Given the description of an element on the screen output the (x, y) to click on. 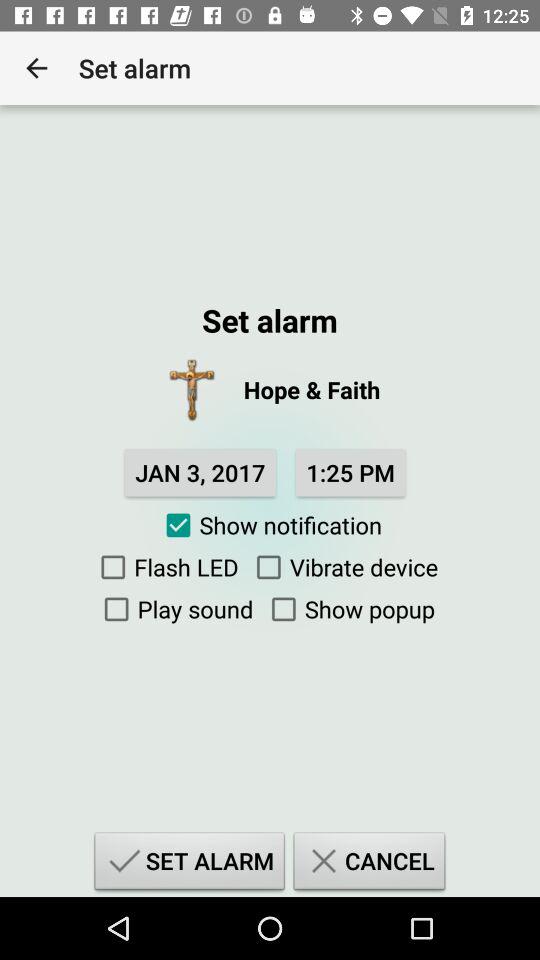
press item next to show popup (174, 609)
